Given the description of an element on the screen output the (x, y) to click on. 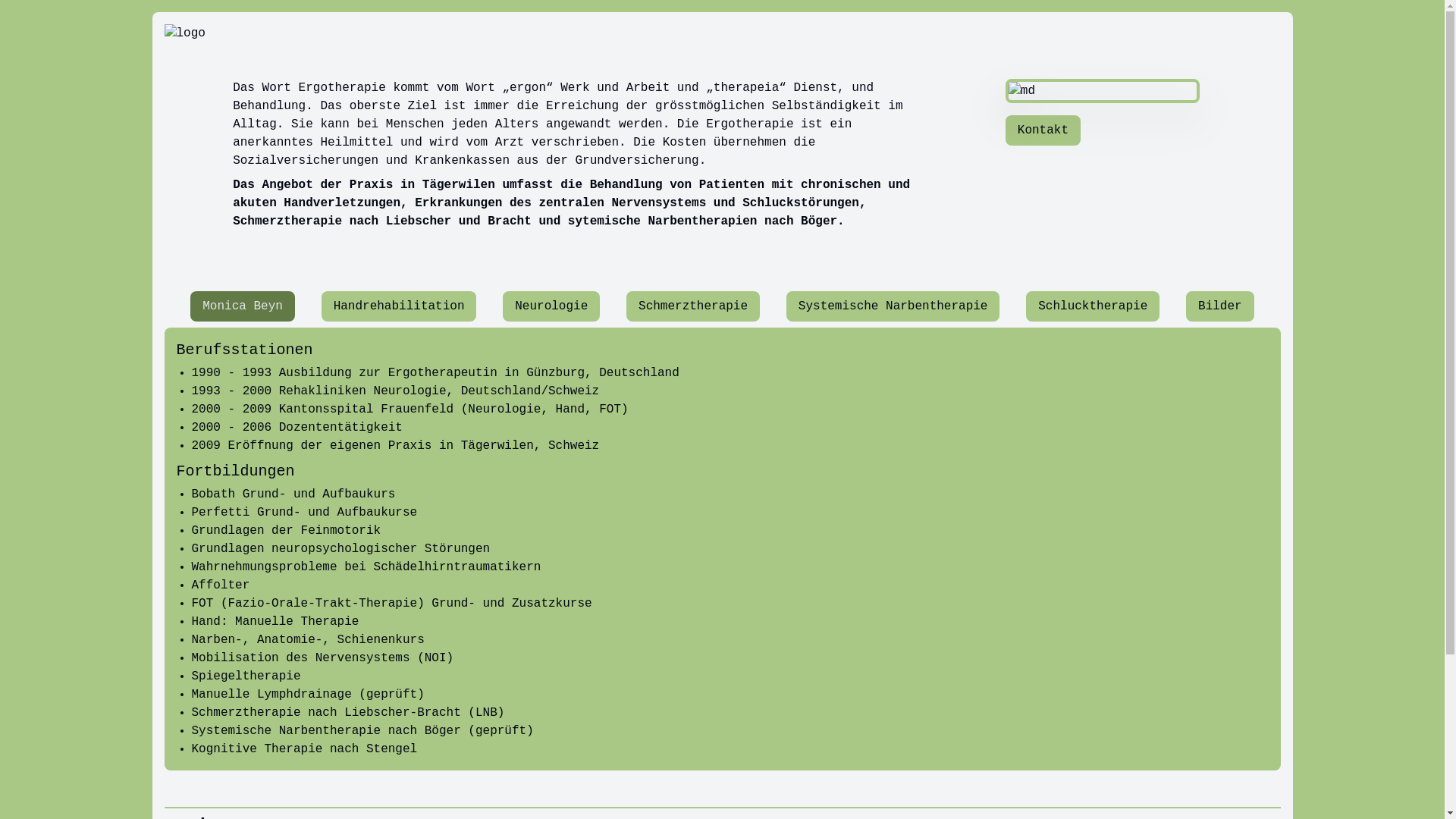
Handrehabilitation Element type: text (398, 306)
Kontakt Element type: text (1042, 130)
Monica Beyn Element type: text (242, 306)
Schmerztherapie Element type: text (692, 306)
Bilder Element type: text (1220, 306)
Schlucktherapie Element type: text (1092, 306)
Systemische Narbentherapie Element type: text (893, 306)
Neurologie Element type: text (550, 306)
